Given the description of an element on the screen output the (x, y) to click on. 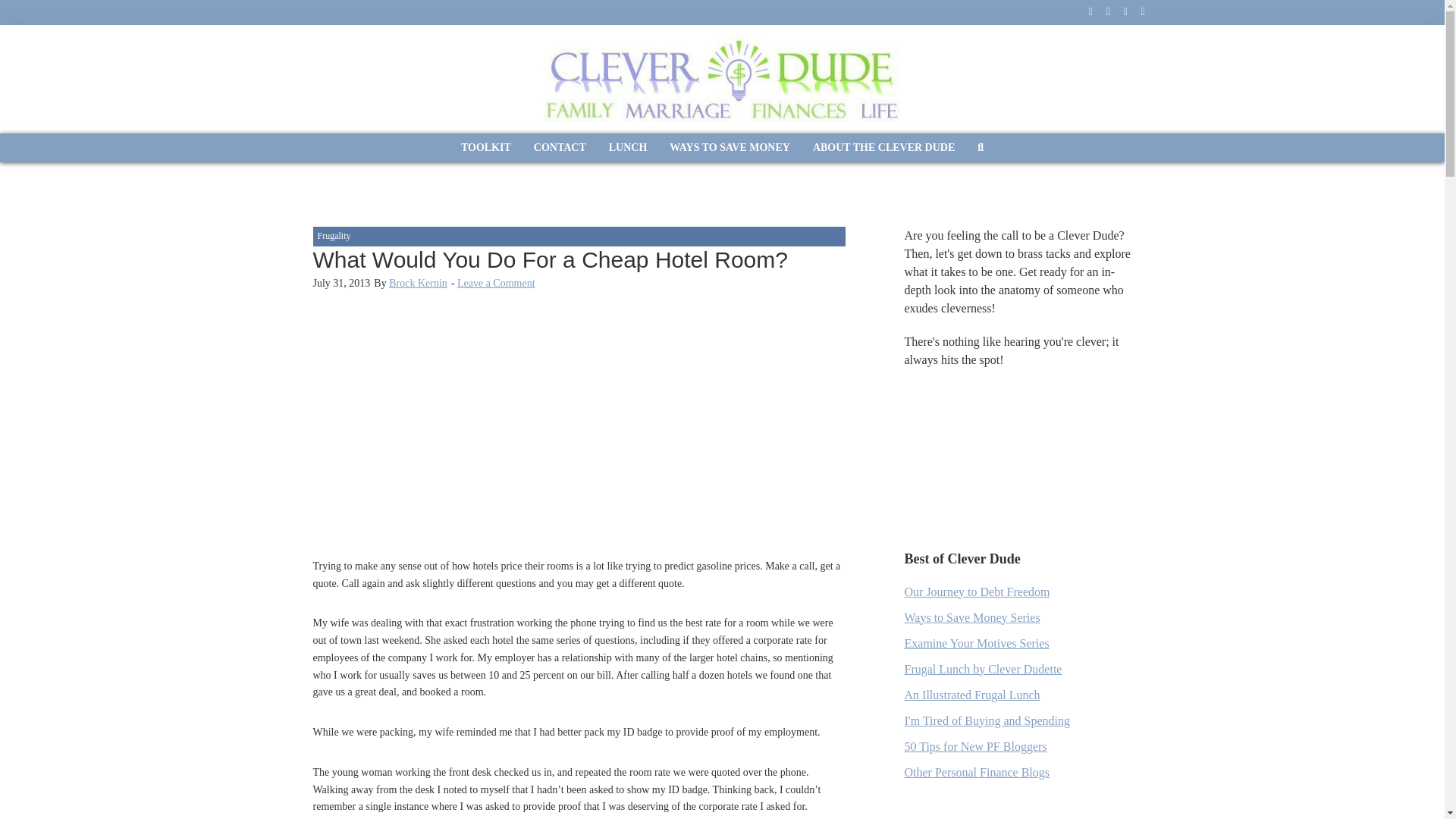
Brock Kernin (417, 283)
ABOUT THE CLEVER DUDE (884, 147)
LUNCH (627, 147)
Frugality (333, 235)
TOOLKIT (485, 147)
Leave a Comment (496, 283)
WAYS TO SAVE MONEY (730, 147)
CONTACT (559, 147)
